Given the description of an element on the screen output the (x, y) to click on. 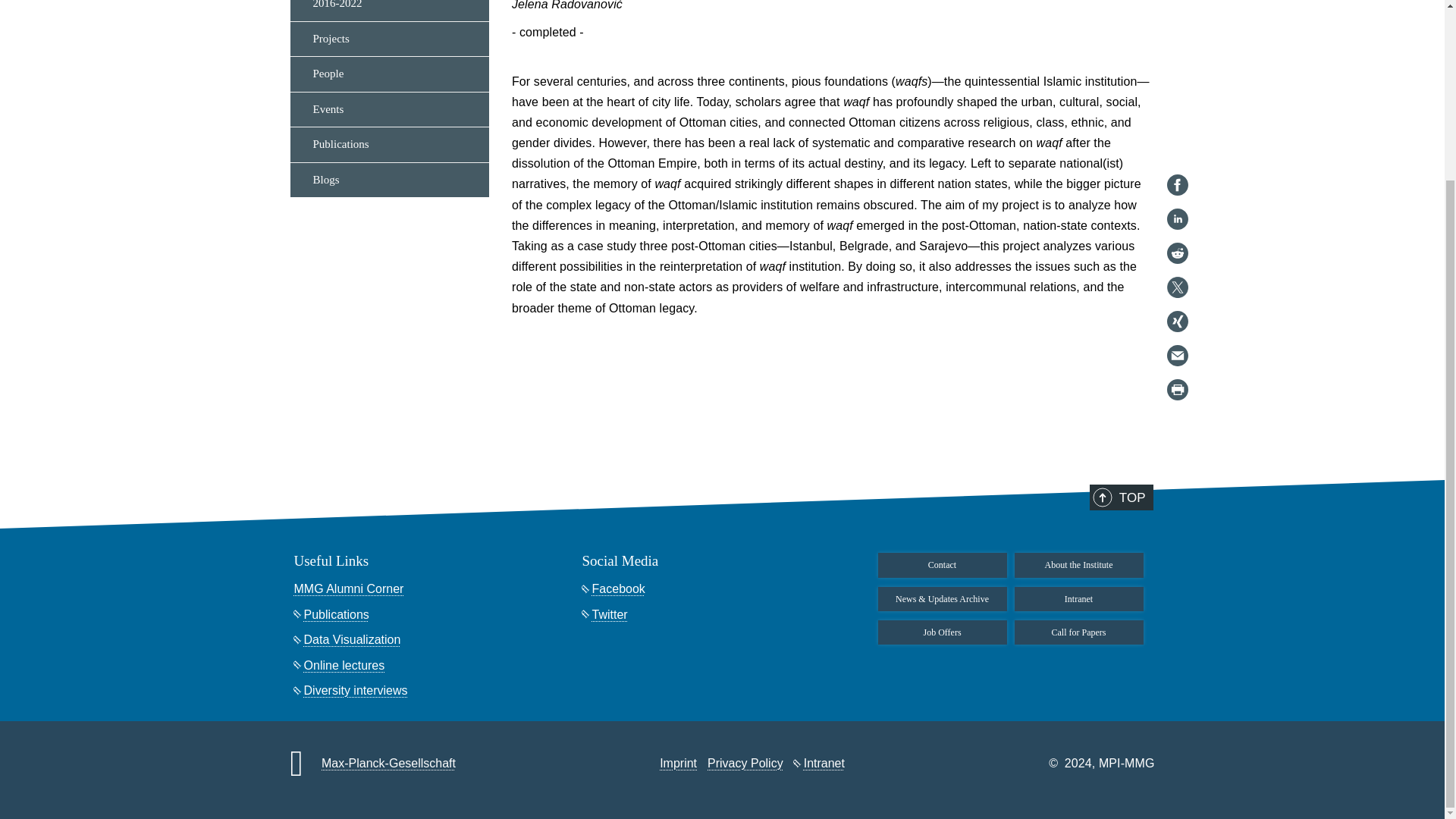
Xing (1177, 100)
E-Mail (1177, 134)
Print (1177, 169)
Twitter (1177, 66)
LinkedIn (1177, 4)
Reddit (1177, 32)
